Given the description of an element on the screen output the (x, y) to click on. 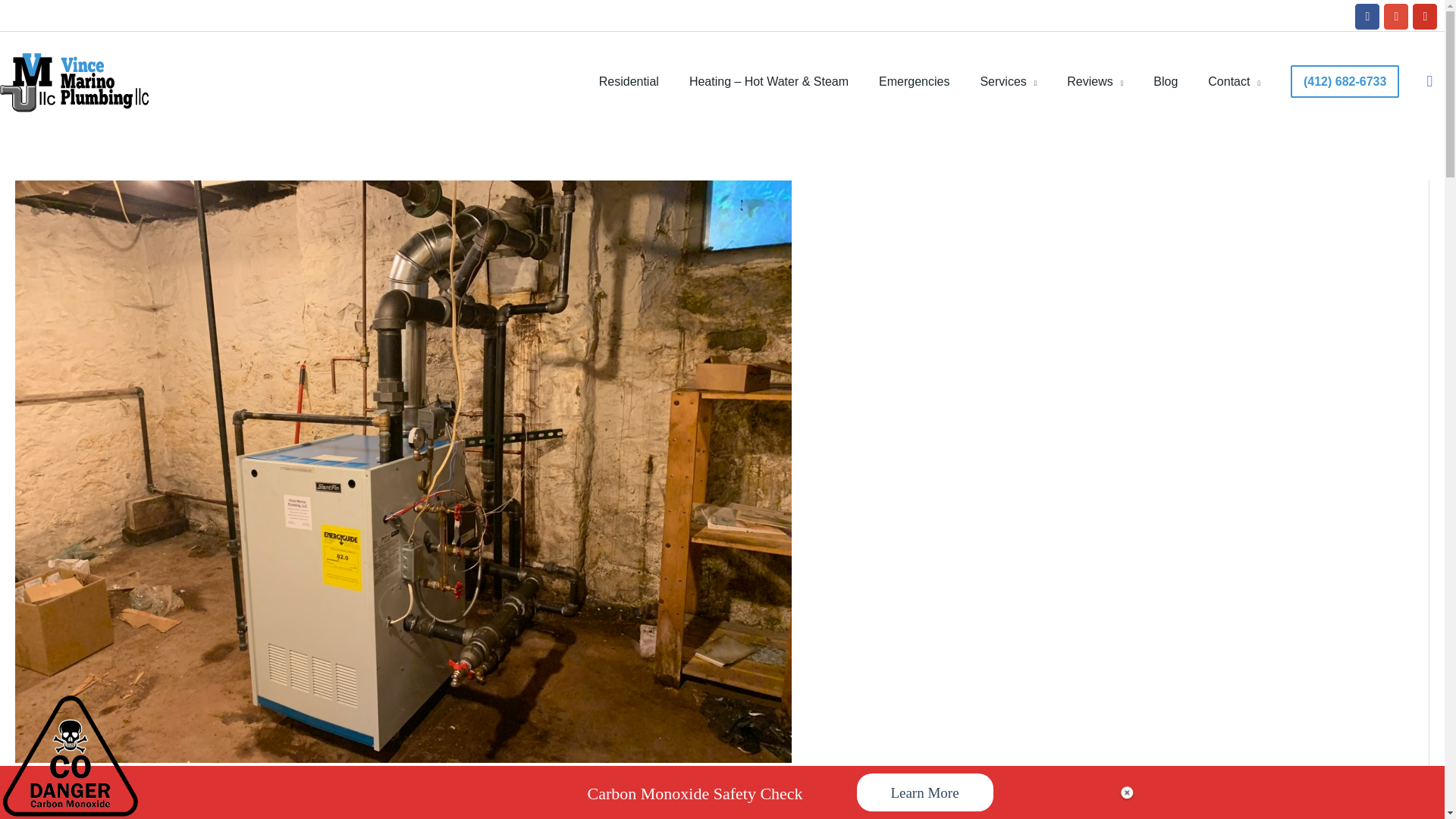
Contact (1233, 81)
Vince Marino Plumbing, LLC on Youtube (1424, 16)
Emergencies (913, 81)
Plumbing Tips (1165, 81)
Vince Marino Plumbing, LLC on Google (1395, 16)
Services (1007, 81)
Vince Marino Plumbing, LLC on Facebook (1366, 16)
Blog (1165, 81)
Reviews (1094, 81)
Residential (628, 81)
